Given the description of an element on the screen output the (x, y) to click on. 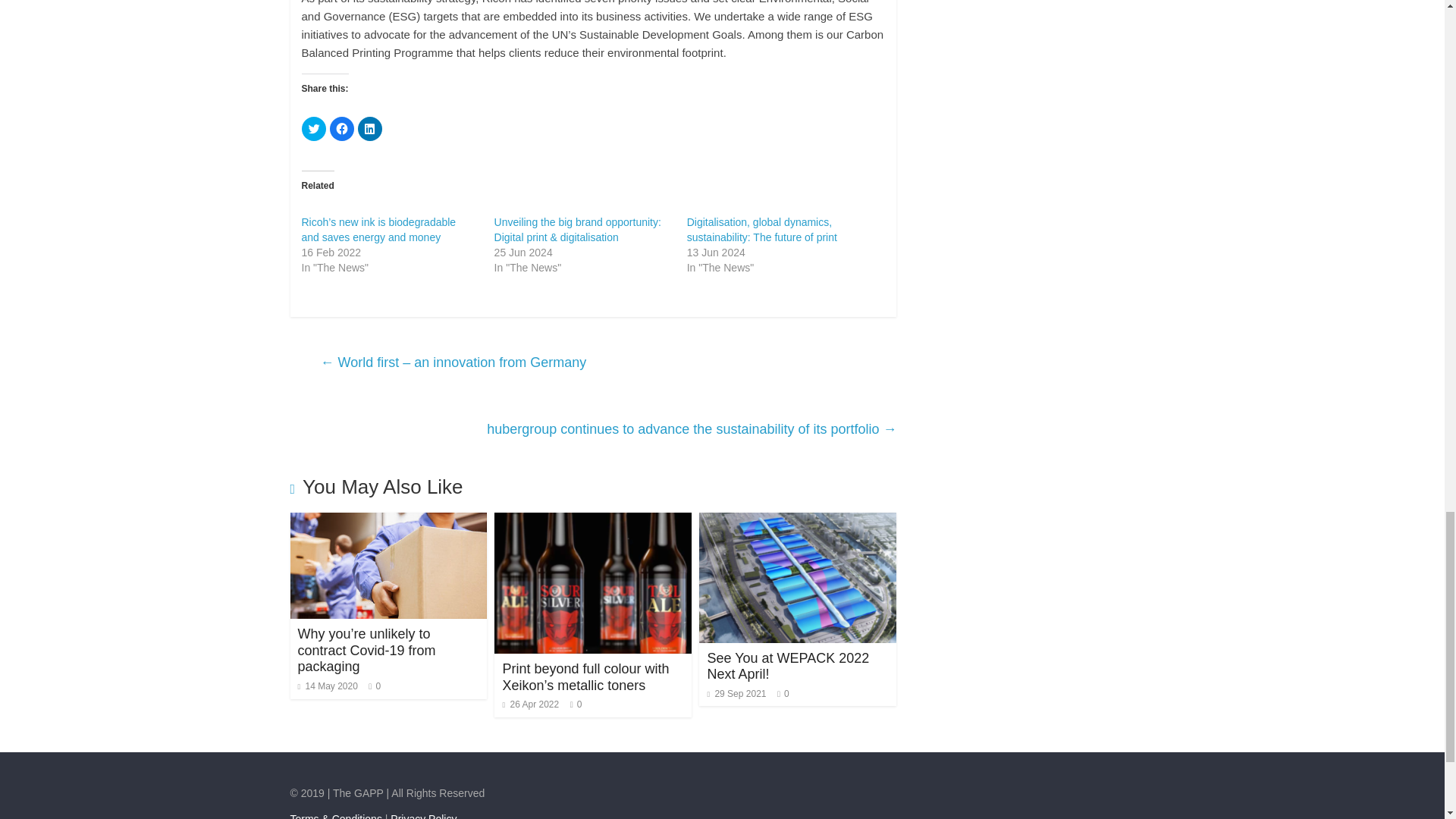
Click to share on Facebook (341, 128)
Click to share on Twitter (313, 128)
Click to share on LinkedIn (369, 128)
